Given the description of an element on the screen output the (x, y) to click on. 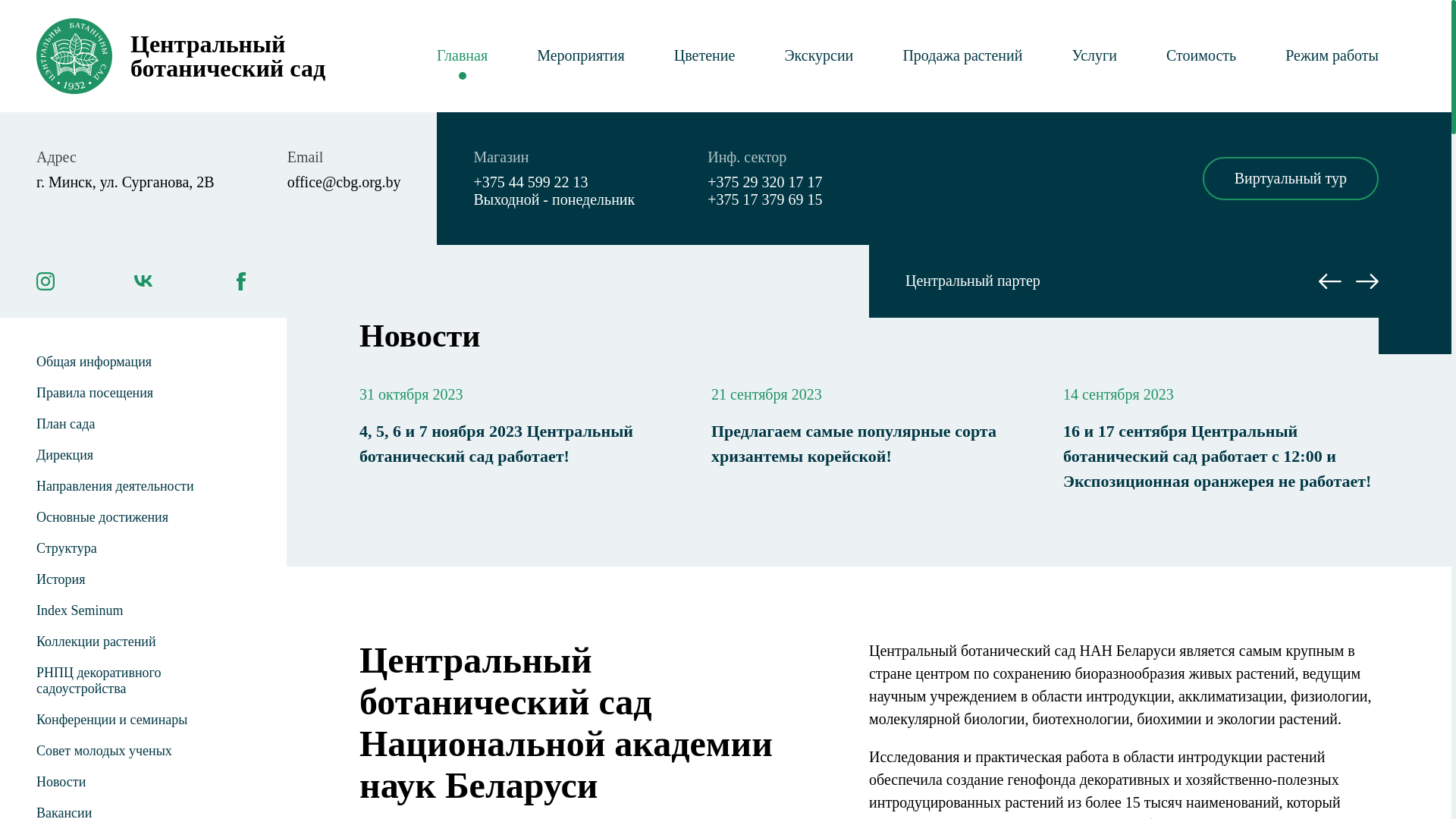
+375 17 379 69 15 Element type: text (764, 199)
+375 29 320 17 17 Element type: text (764, 182)
Index Seminum Element type: text (143, 610)
+375 44 599 22 13 Element type: text (553, 182)
